Given the description of an element on the screen output the (x, y) to click on. 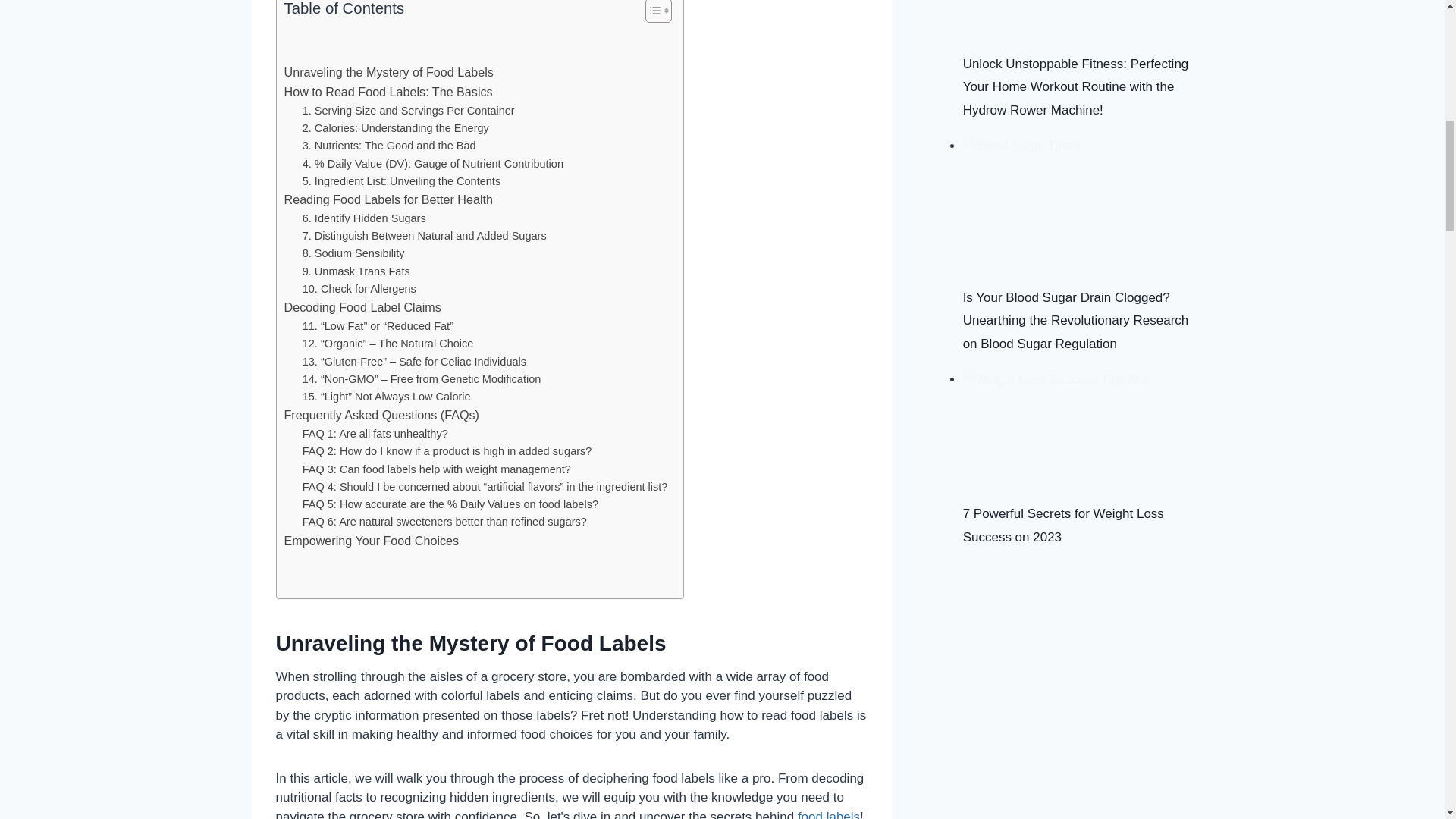
Reading Food Labels for Better Health (387, 199)
8. Sodium Sensibility (353, 253)
Unraveling the Mystery of Food Labels (388, 72)
5. Ingredient List: Unveiling the Contents (401, 181)
3. Nutrients: The Good and the Bad (389, 145)
How to Read Food Labels: The Basics (387, 92)
Unraveling the Mystery of Food Labels (388, 72)
Decoding Food Label Claims (362, 307)
FAQ 3: Can food labels help with weight management? (436, 469)
1. Serving Size and Servings Per Container (408, 110)
